Given the description of an element on the screen output the (x, y) to click on. 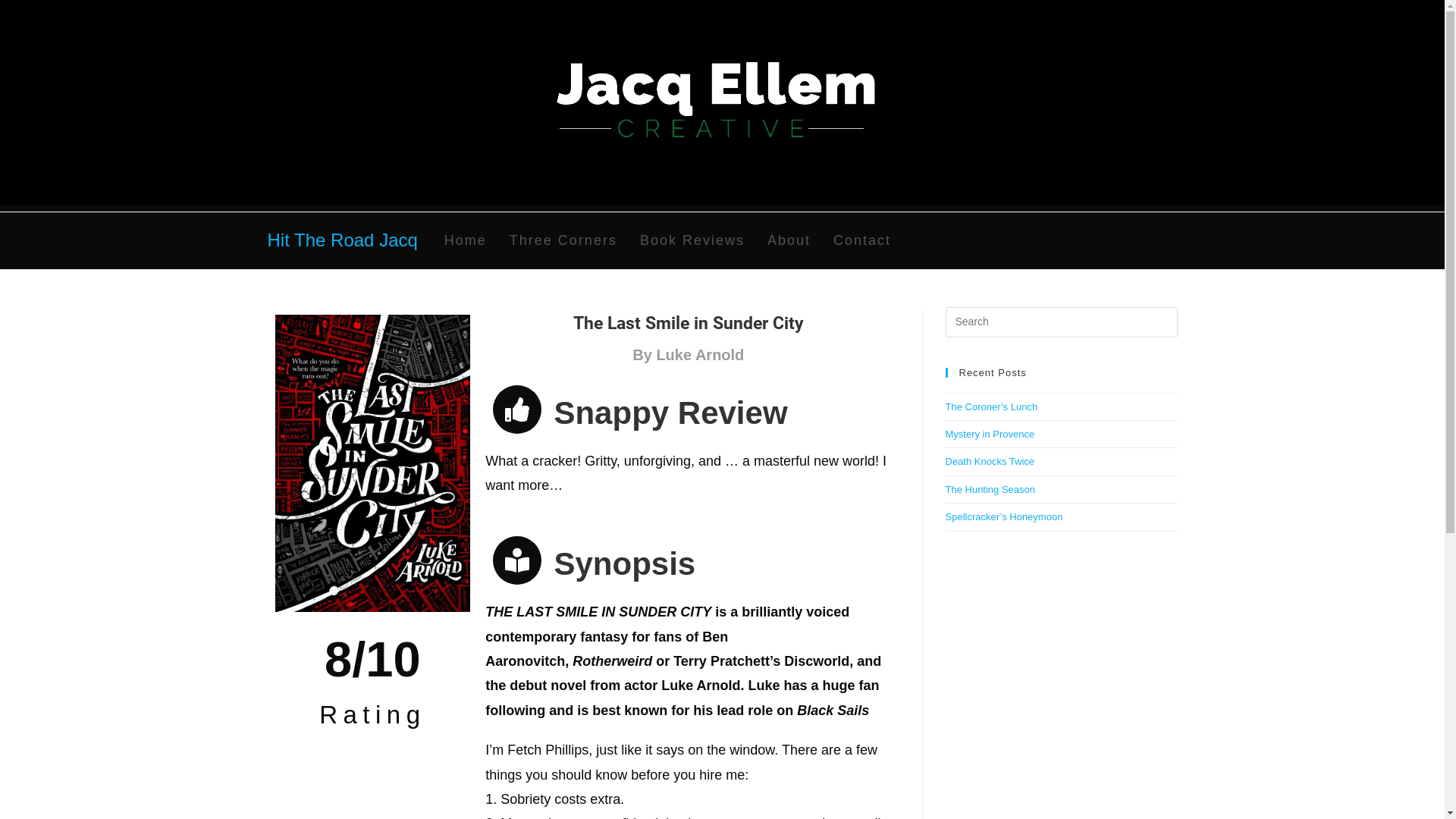
Hit The Road Jacq Element type: text (341, 239)
The Hunting Season Element type: text (989, 489)
Home Element type: text (465, 240)
Death Knocks Twice Element type: text (989, 461)
Mystery in Provence Element type: text (989, 433)
About Element type: text (789, 240)
Contact Element type: text (862, 240)
Book Reviews Element type: text (692, 240)
Three Corners Element type: text (563, 240)
